Given the description of an element on the screen output the (x, y) to click on. 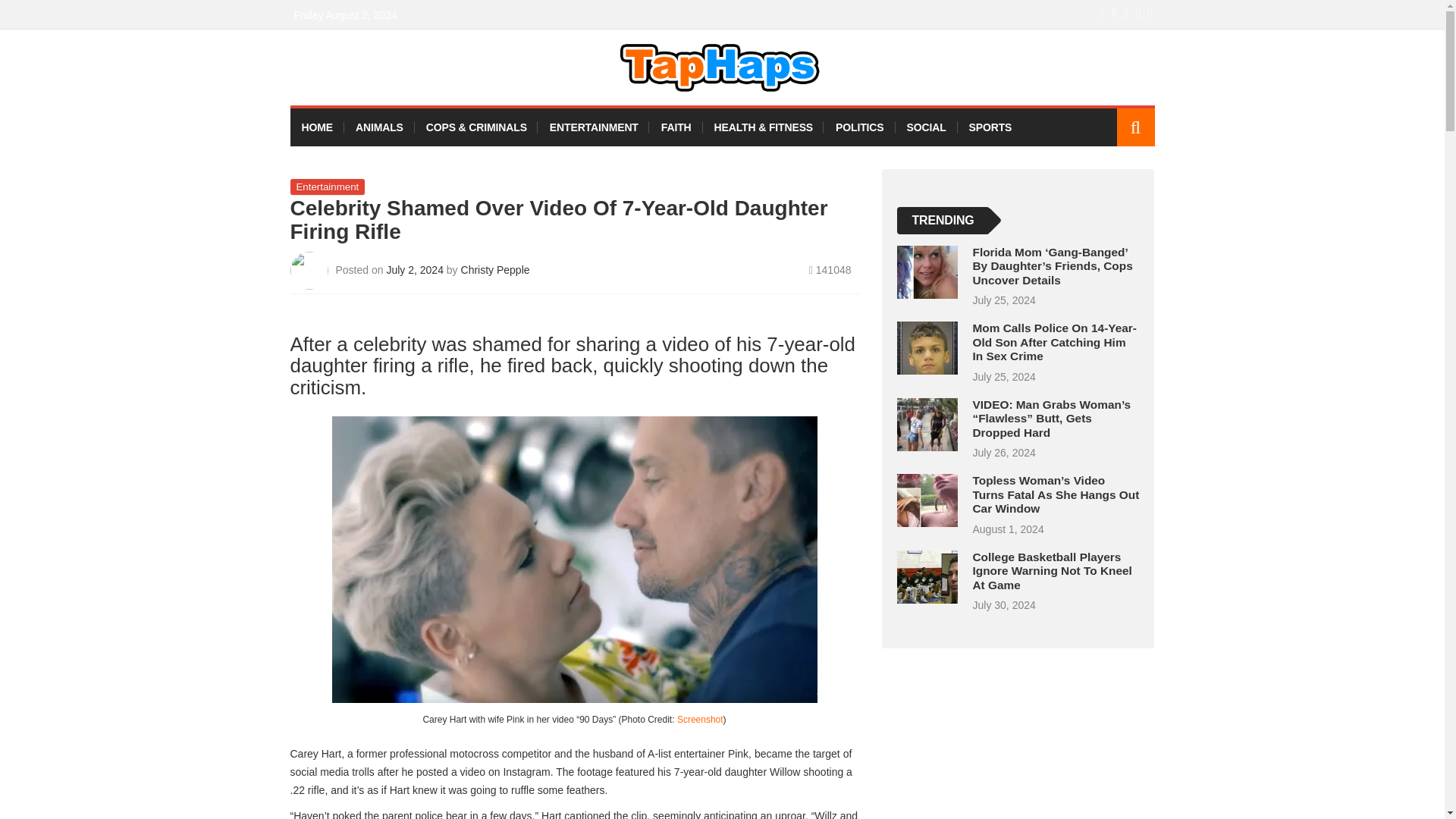
SPORTS (990, 127)
HOME (316, 127)
ENTERTAINMENT (593, 127)
POLITICS (859, 127)
FAITH (676, 127)
ANIMALS (378, 127)
Screenshot (700, 719)
SOCIAL (925, 127)
Entertainment (327, 186)
Christy Pepple (495, 269)
July 2, 2024 (415, 269)
